Given the description of an element on the screen output the (x, y) to click on. 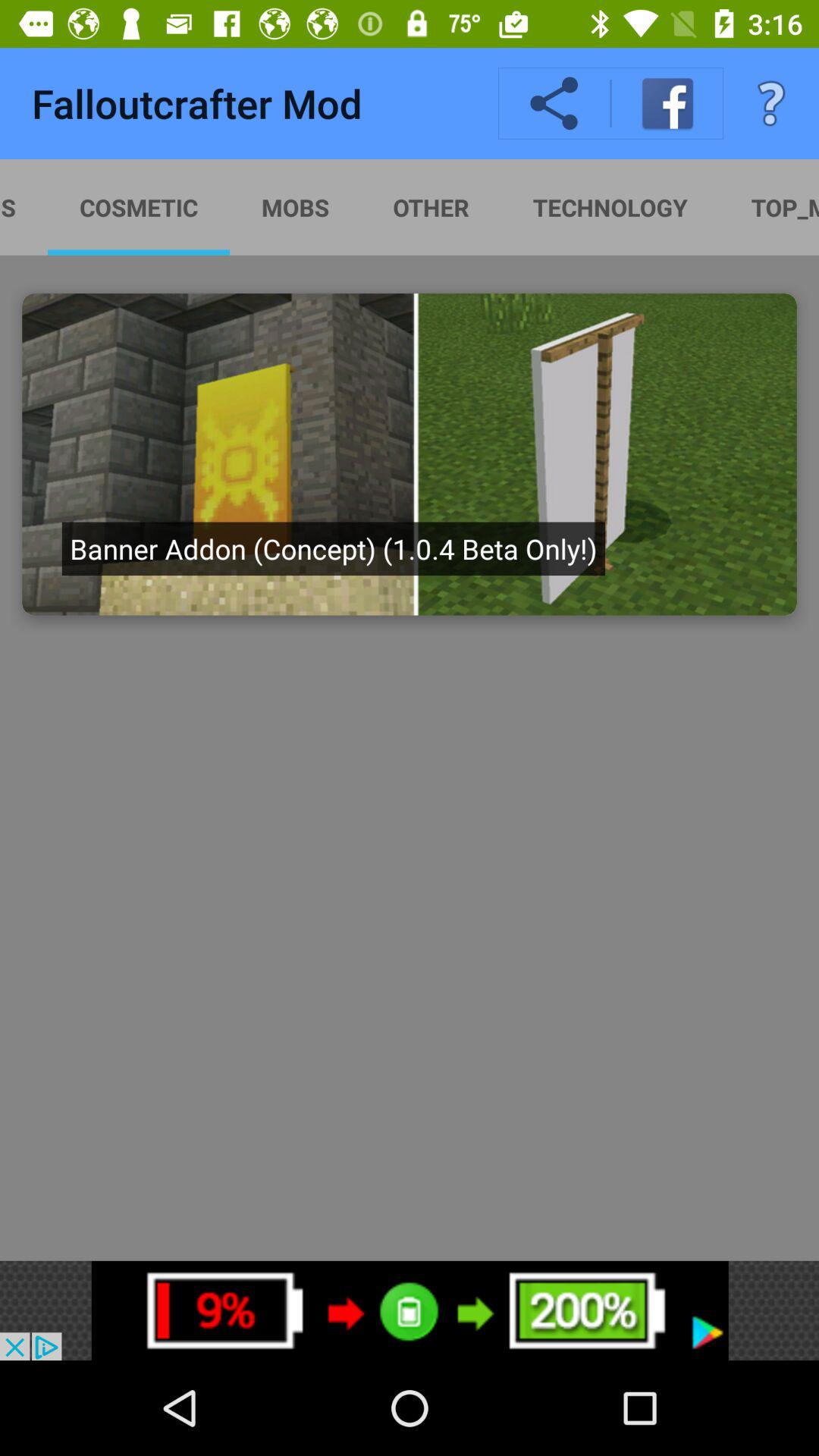
game (409, 454)
